Given the description of an element on the screen output the (x, y) to click on. 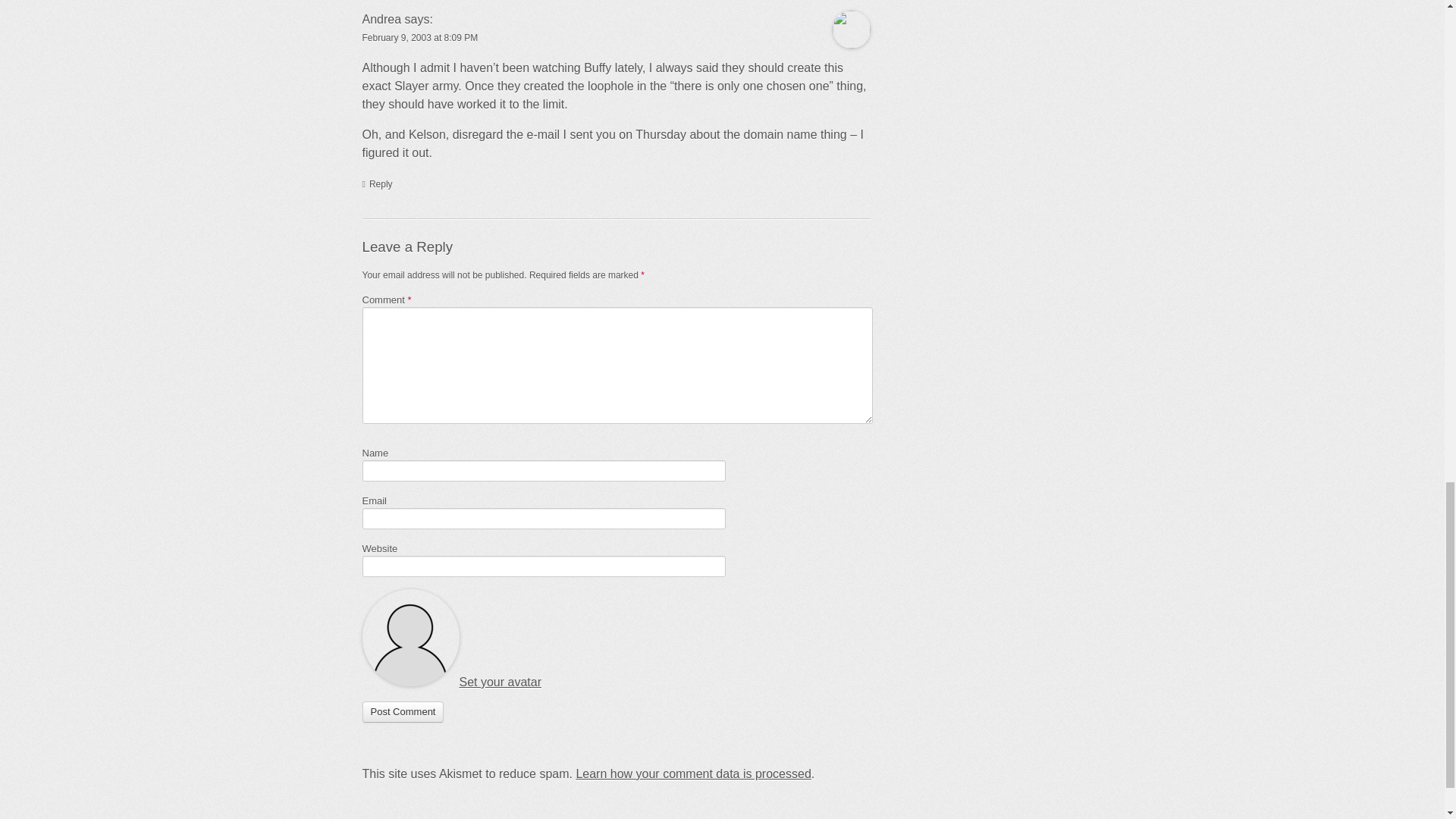
Learn how your comment data is processed (692, 773)
February 9, 2003 at 8:09 PM (420, 37)
Post Comment (403, 711)
Post Comment (403, 711)
Set your avatar (500, 681)
Reply (377, 184)
